Given the description of an element on the screen output the (x, y) to click on. 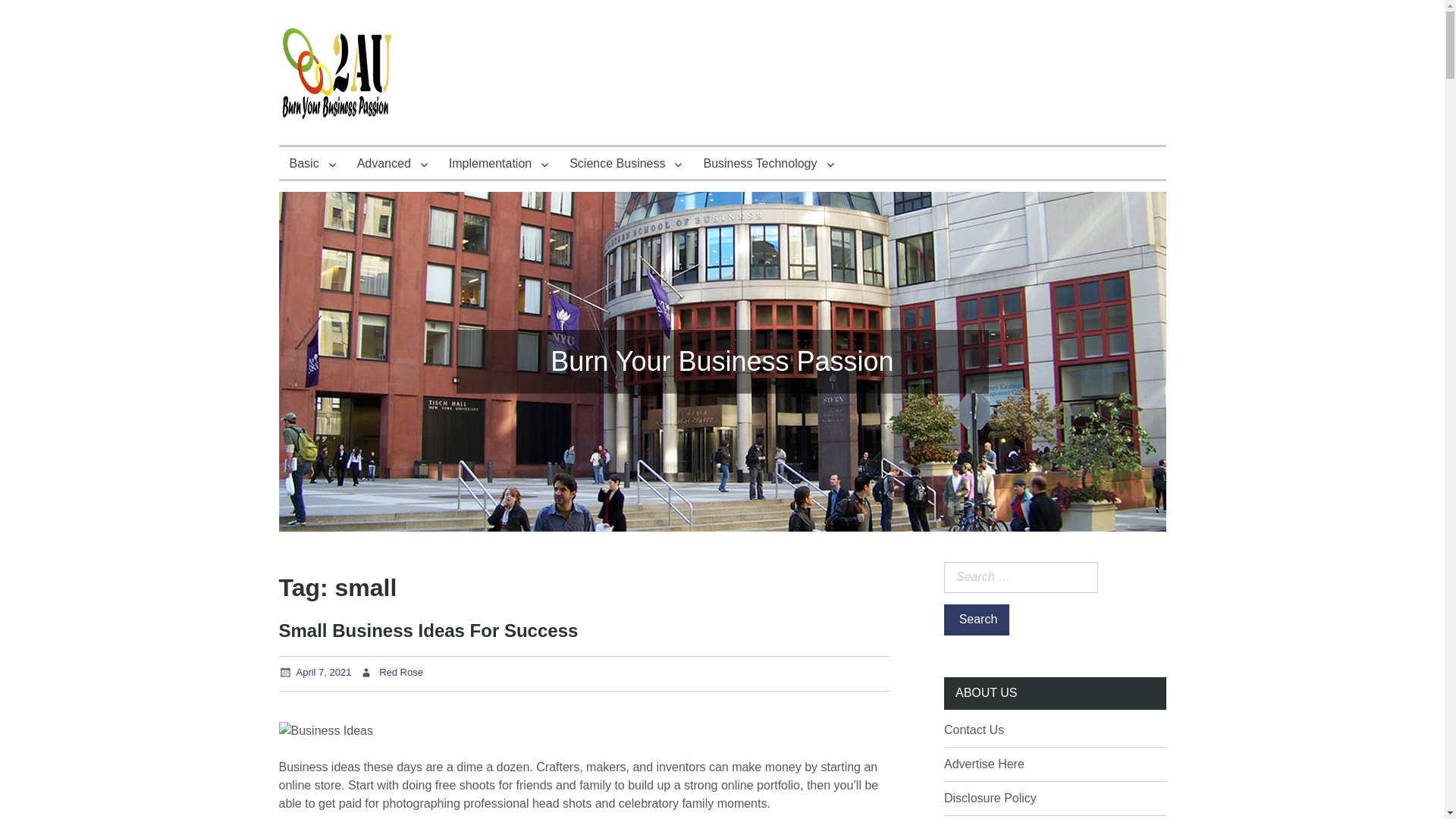
Science Business (626, 163)
Business Technology (768, 163)
Basic (312, 163)
April 7, 2021 (322, 672)
Small Business Ideas For Success (428, 629)
Red Rose (400, 672)
2AU (306, 157)
Implementation (498, 163)
Search (976, 619)
Advanced (392, 163)
Search (976, 619)
